Given the description of an element on the screen output the (x, y) to click on. 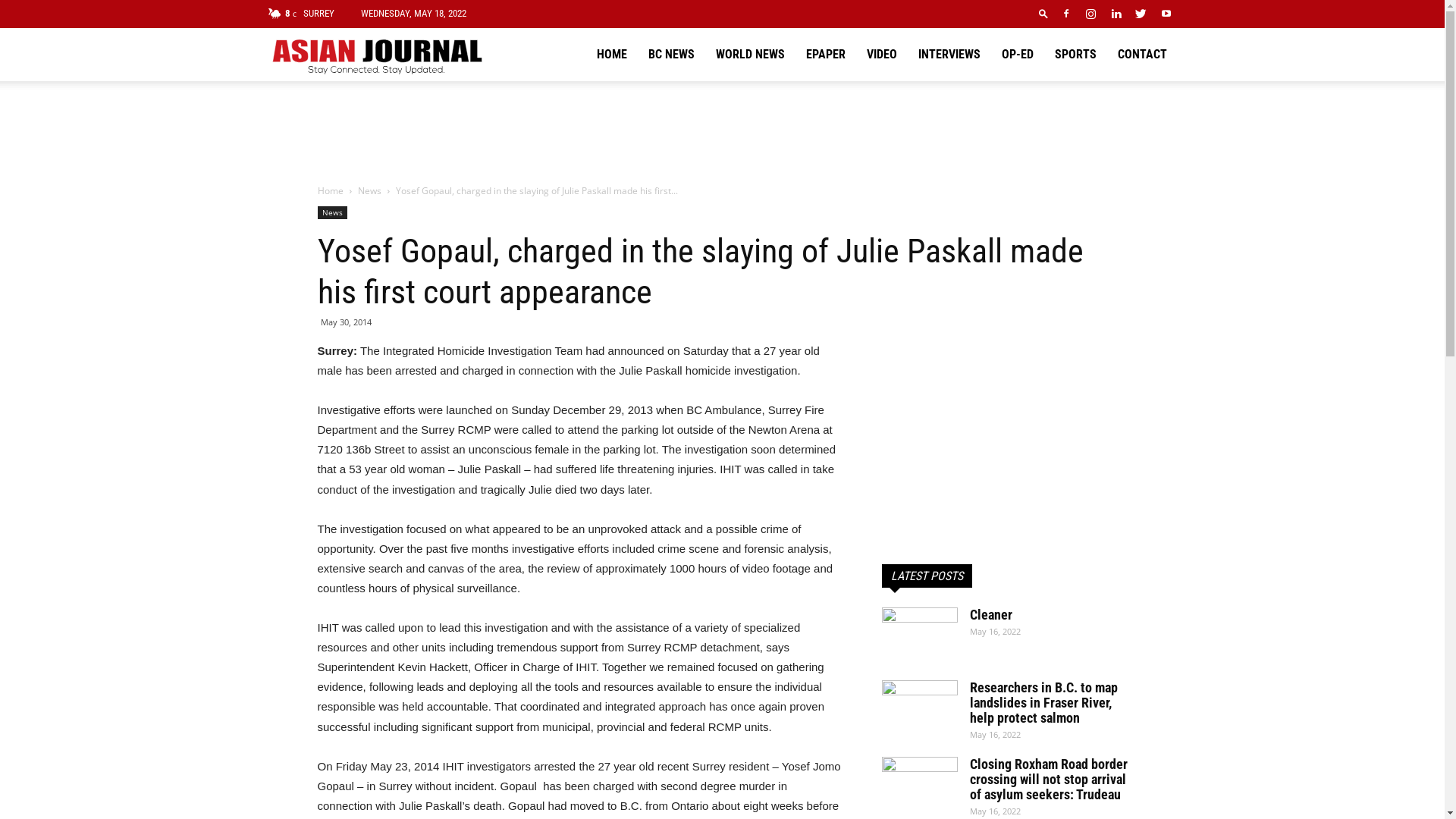
News Element type: text (369, 190)
Asian Journal Element type: text (375, 54)
Youtube Element type: hover (1165, 13)
Linkedin Element type: hover (1115, 13)
INTERVIEWS Element type: text (948, 54)
Cleaner Element type: hover (919, 633)
HOME Element type: text (611, 54)
Instagram Element type: hover (1090, 13)
News Element type: text (331, 212)
EPAPER Element type: text (824, 54)
CONTACT Element type: text (1142, 54)
Cleaner Element type: text (990, 614)
Search Element type: text (1135, 70)
OP-ED Element type: text (1016, 54)
Twitter Element type: hover (1140, 13)
VIDEO Element type: text (881, 54)
SPORTS Element type: text (1074, 54)
WORLD NEWS Element type: text (749, 54)
Advertisement Element type: hover (1003, 435)
Home Element type: text (329, 190)
Advertisement Element type: hover (721, 133)
BC NEWS Element type: text (670, 54)
Facebook Element type: hover (1065, 13)
